Given the description of an element on the screen output the (x, y) to click on. 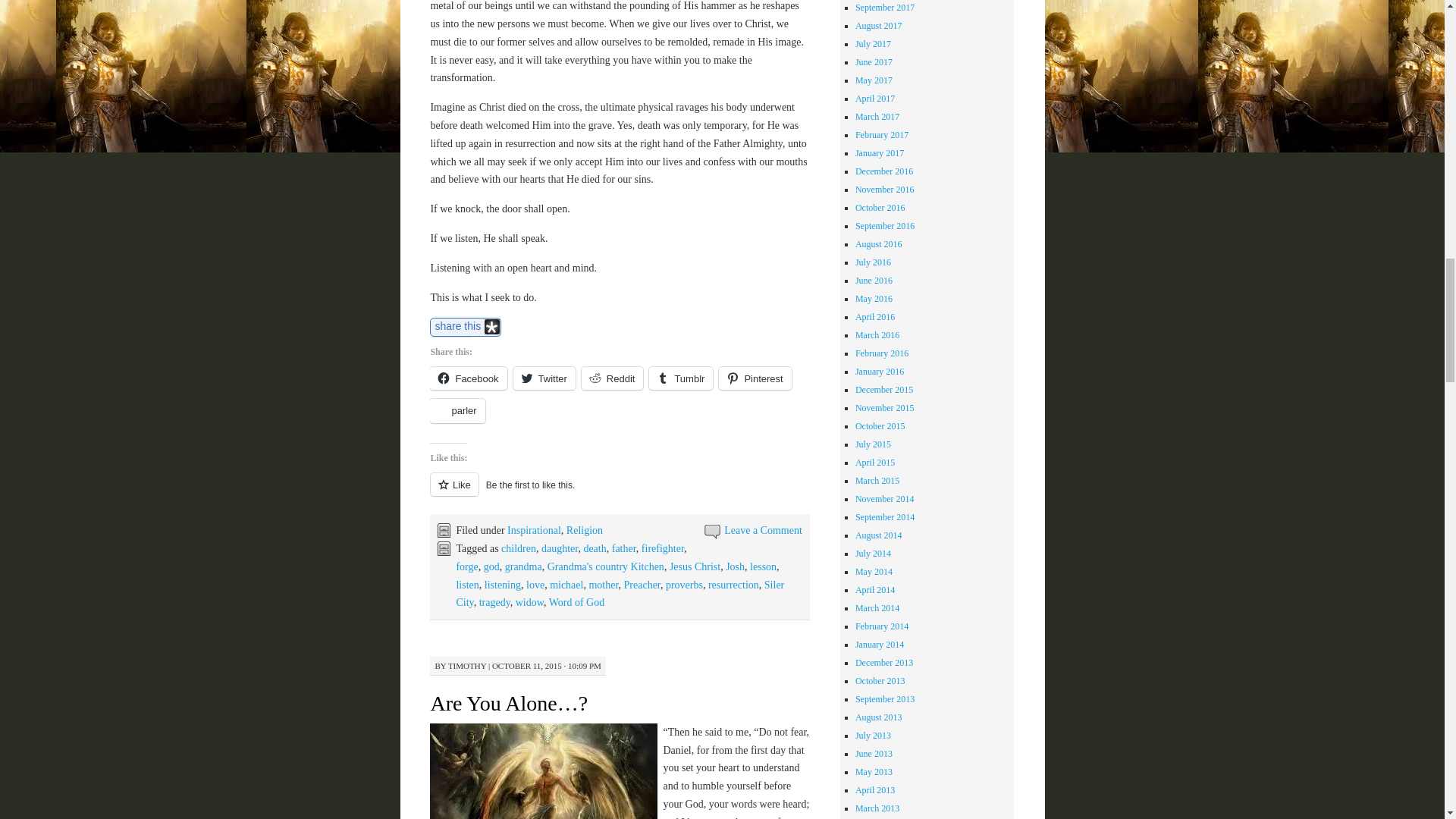
Click to share on Reddit (611, 377)
parler (456, 410)
Leave a Comment (762, 530)
Click to share on parler (456, 410)
View all posts by Timothy (467, 665)
grandma (523, 566)
forge (466, 566)
daughter (559, 548)
Grandma's country Kitchen (605, 566)
Click to share on Pinterest (754, 377)
Click to share on Facebook (467, 377)
god (491, 566)
Josh (734, 566)
death (594, 548)
Click to share on Tumblr (681, 377)
